Given the description of an element on the screen output the (x, y) to click on. 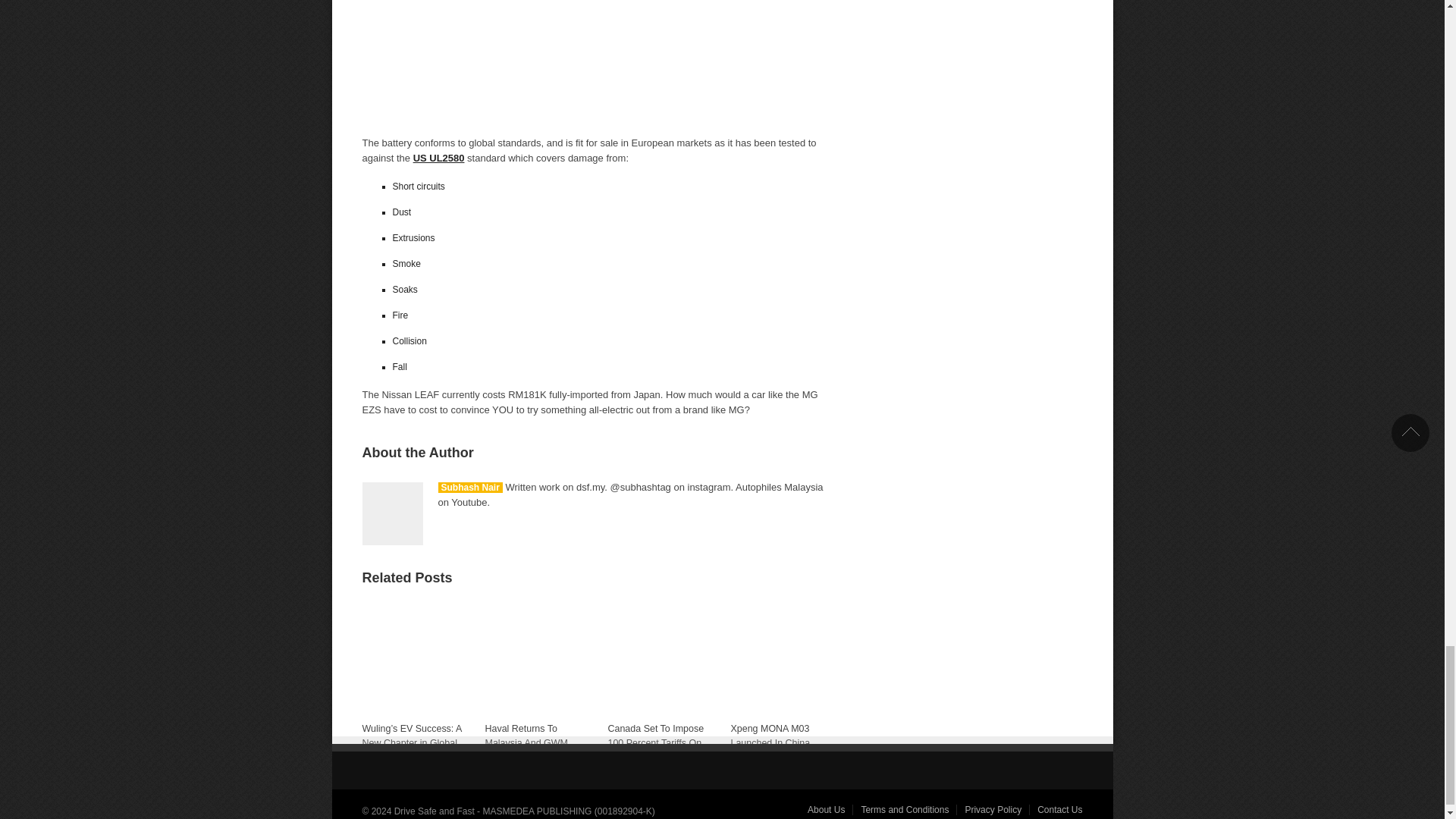
Posts by Subhash Nair (470, 487)
Subhash Nair (470, 487)
US UL2580 (438, 157)
